Given the description of an element on the screen output the (x, y) to click on. 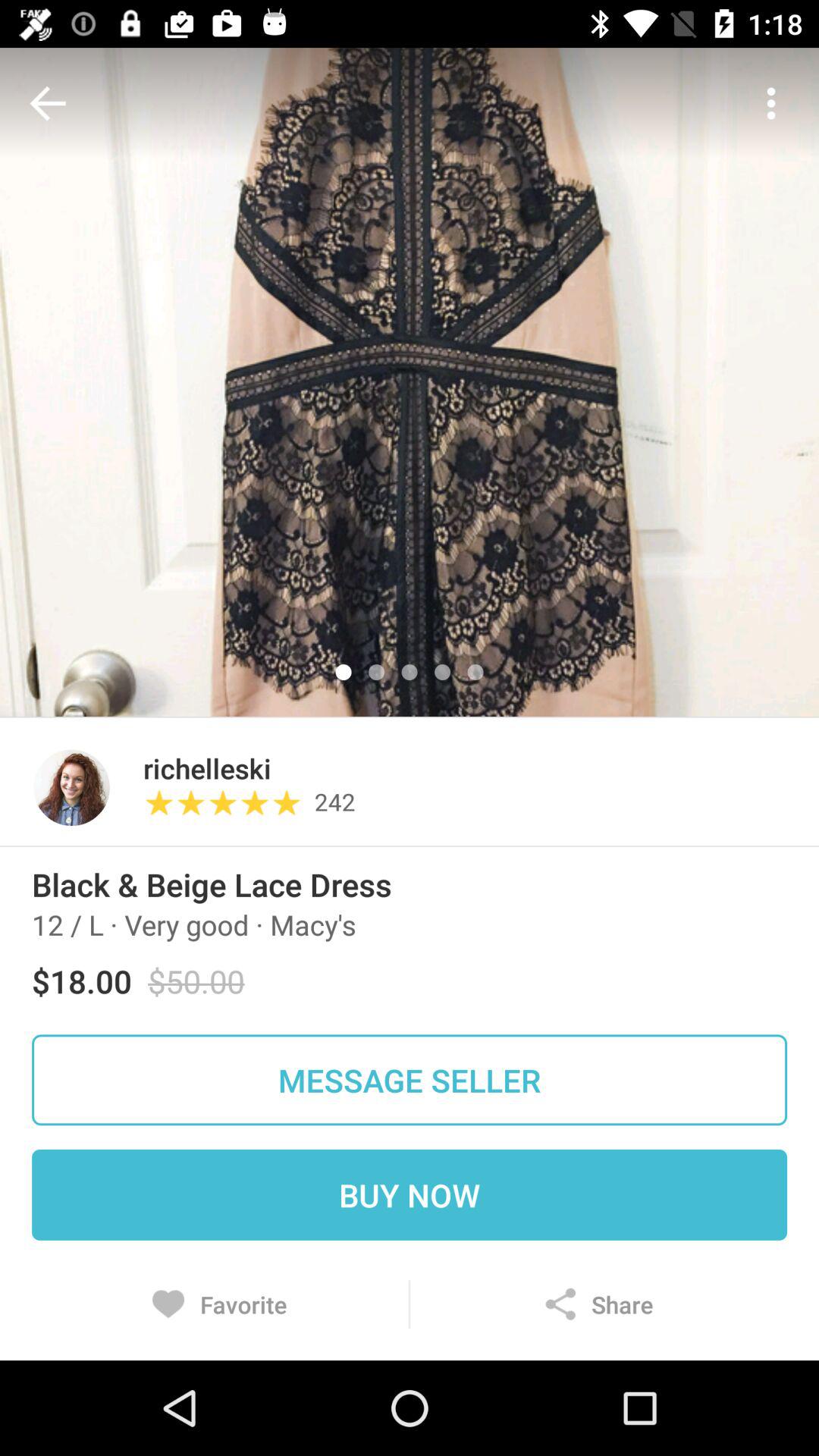
click the item next to the 242 icon (207, 768)
